Given the description of an element on the screen output the (x, y) to click on. 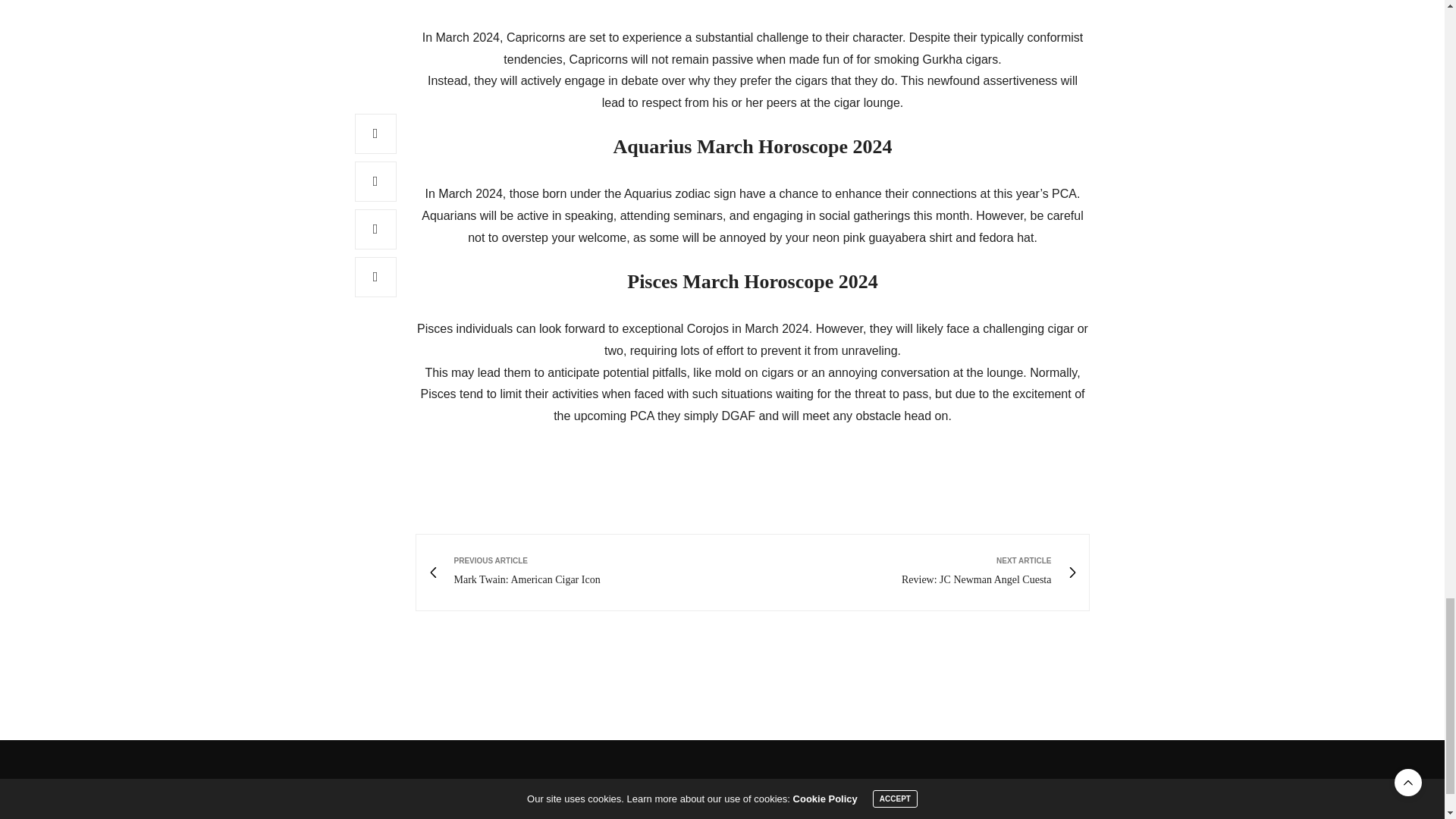
ABOUT (932, 792)
CONTACT (986, 792)
Cigar Public (389, 792)
ADVERTISE (913, 572)
SPONSORSHIPS (589, 572)
